Given the description of an element on the screen output the (x, y) to click on. 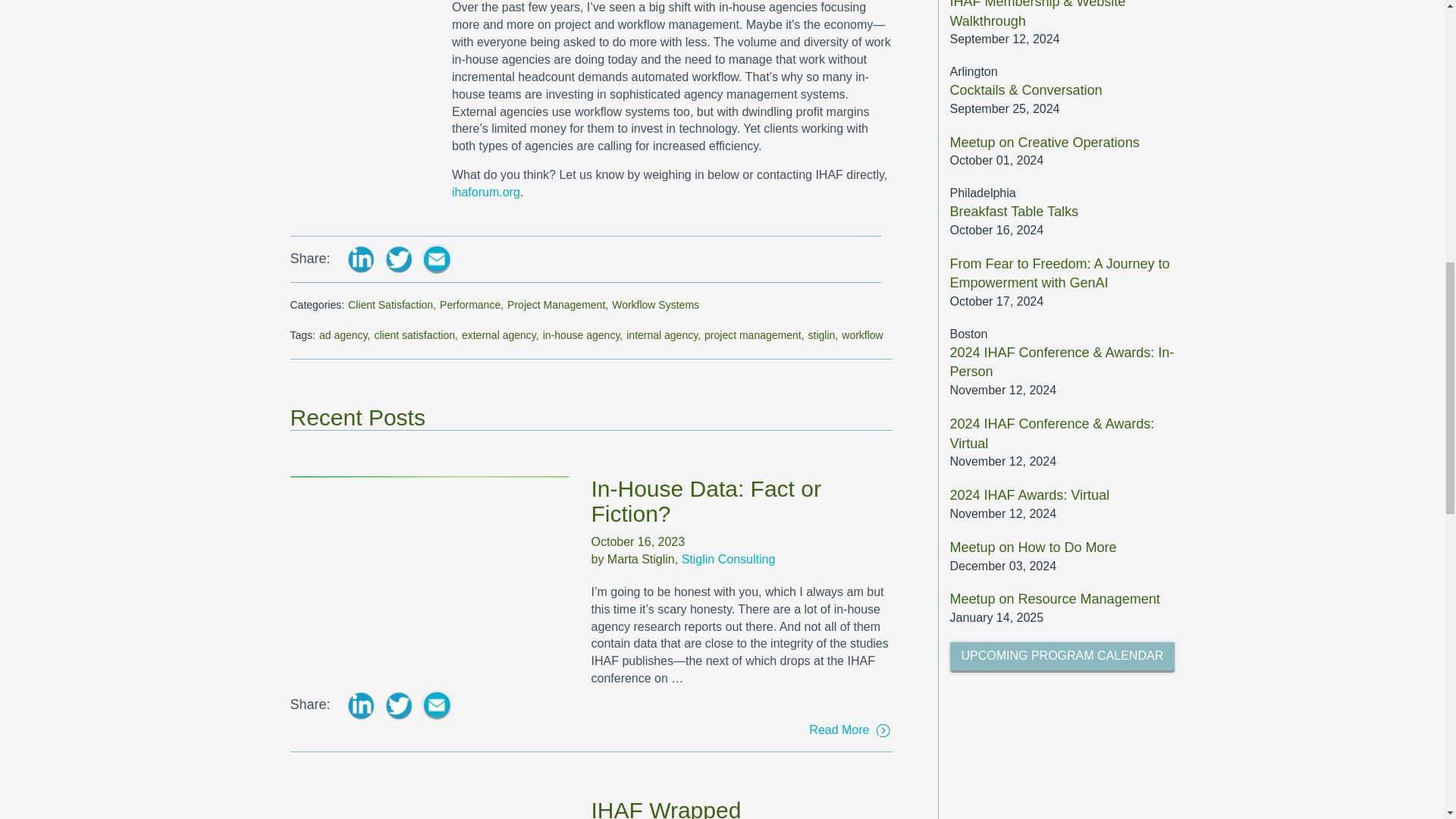
ihaforum.org (485, 192)
2023-soti-blog-header (428, 567)
Client Satisfaction, (391, 304)
pexels-max-fischer-5872188 (428, 808)
